Given the description of an element on the screen output the (x, y) to click on. 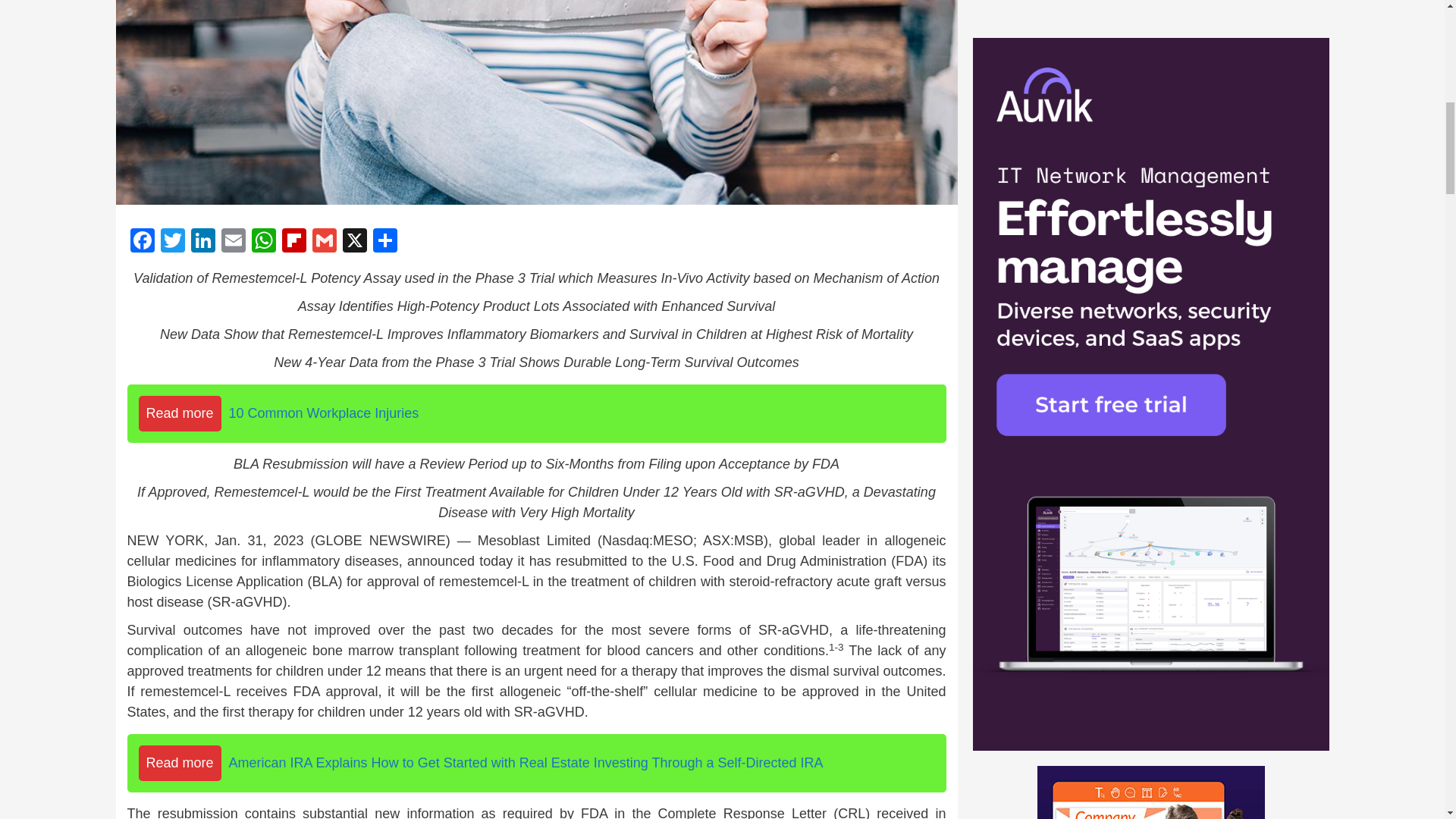
Email (233, 242)
X (354, 242)
Share (384, 242)
Twitter (172, 242)
Flipboard (293, 242)
Search (1276, 813)
Gmail (323, 242)
WhatsApp (263, 242)
Facebook (142, 242)
Search (1276, 813)
Read more10 Common Workplace Injuries (537, 413)
X (354, 242)
Gmail (323, 242)
Twitter (172, 242)
